Given the description of an element on the screen output the (x, y) to click on. 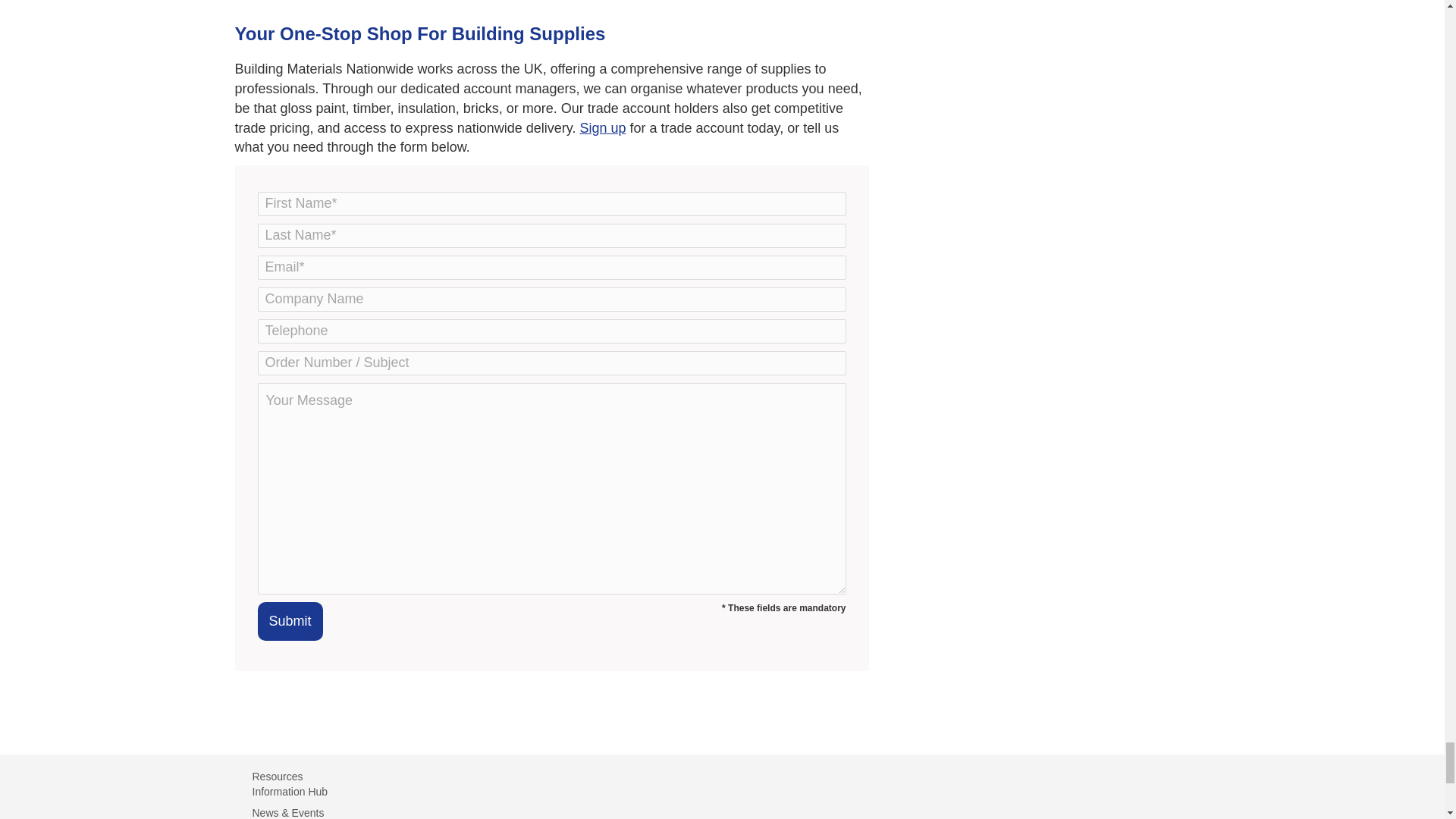
Submit (290, 620)
